Given the description of an element on the screen output the (x, y) to click on. 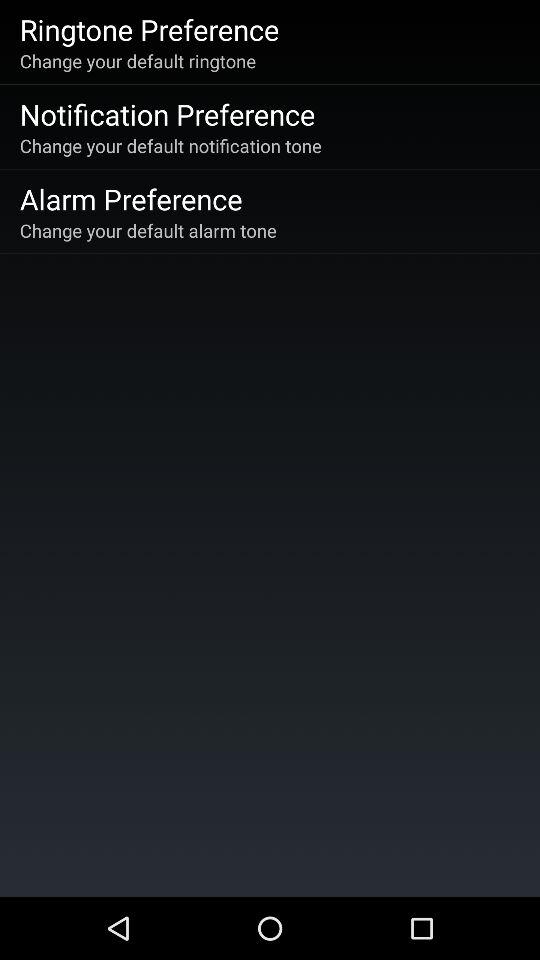
turn off the ringtone preference icon (149, 29)
